Given the description of an element on the screen output the (x, y) to click on. 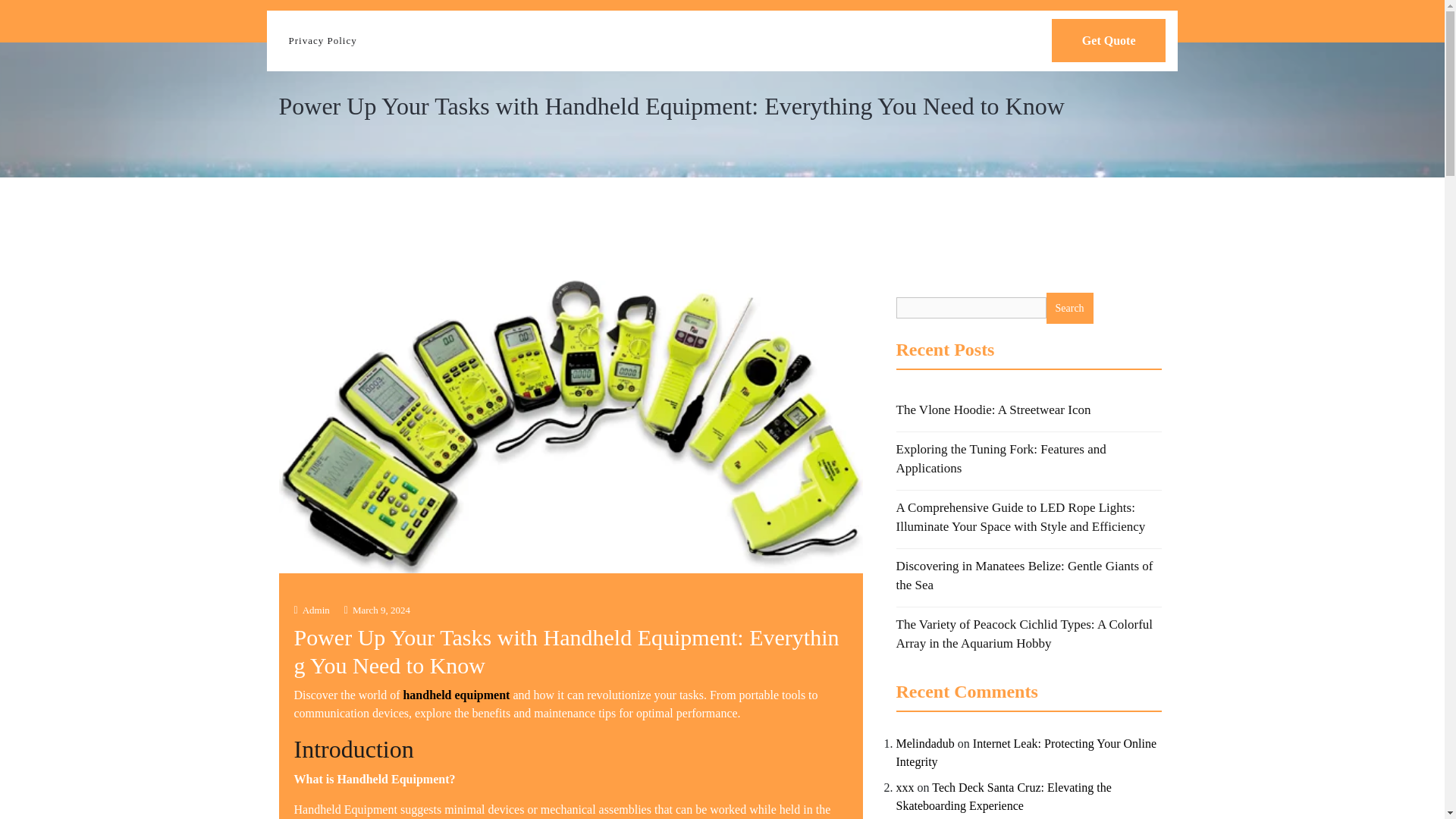
Melindadub (925, 743)
Discovering in Manatees Belize: Gentle Giants of the Sea (1024, 574)
Admin (312, 609)
Get Quote (1108, 40)
xxx (905, 787)
Exploring the Tuning Fork: Features and Applications (1001, 458)
handheld equipment (456, 694)
Search (1069, 307)
Privacy Policy (321, 40)
Tech Deck Santa Cruz: Elevating the Skateboarding Experience (1004, 796)
The Vlone Hoodie: A Streetwear Icon (993, 409)
March 9, 2024 (376, 609)
